Given the description of an element on the screen output the (x, y) to click on. 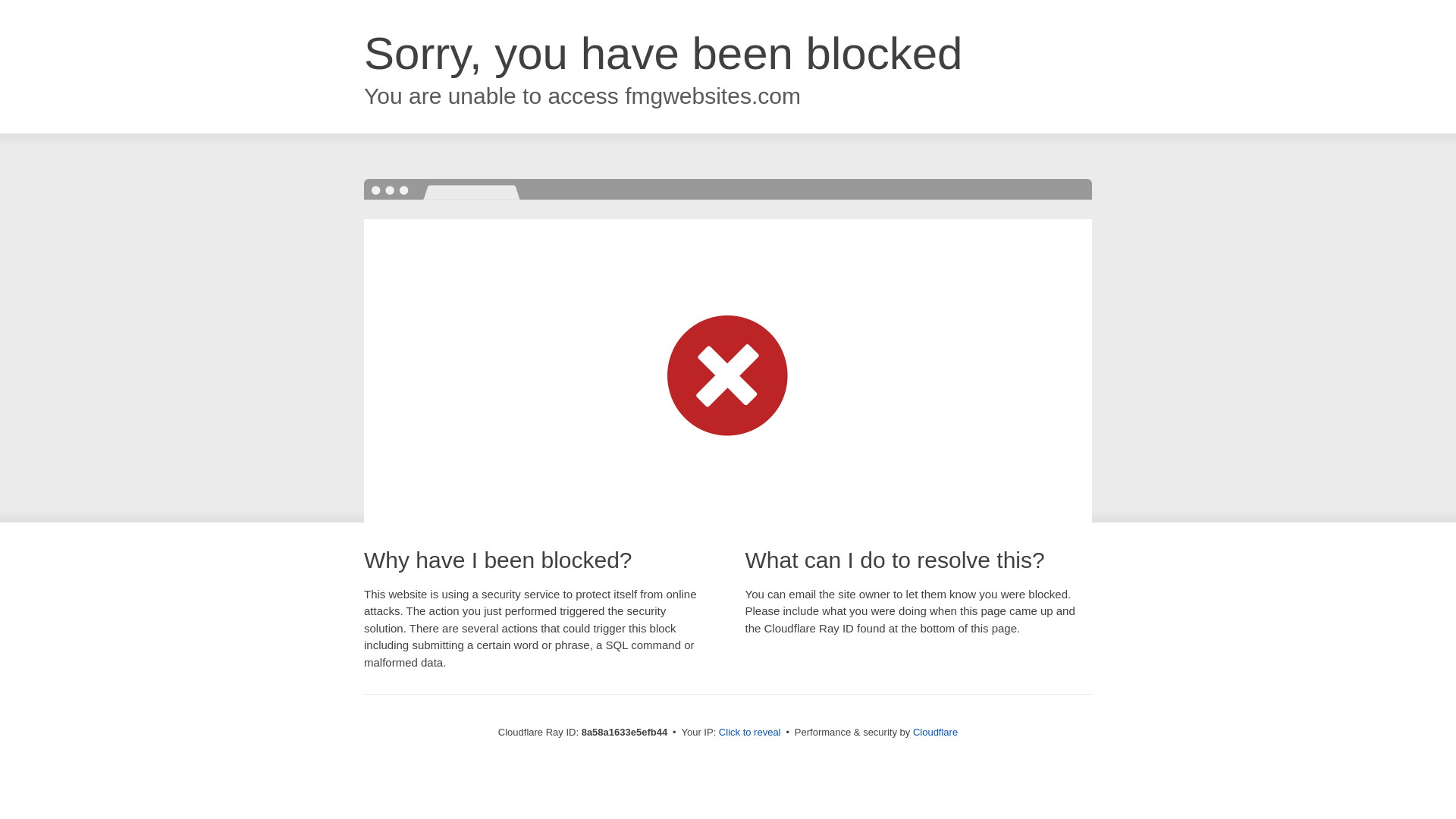
Cloudflare (935, 731)
Click to reveal (749, 732)
